Given the description of an element on the screen output the (x, y) to click on. 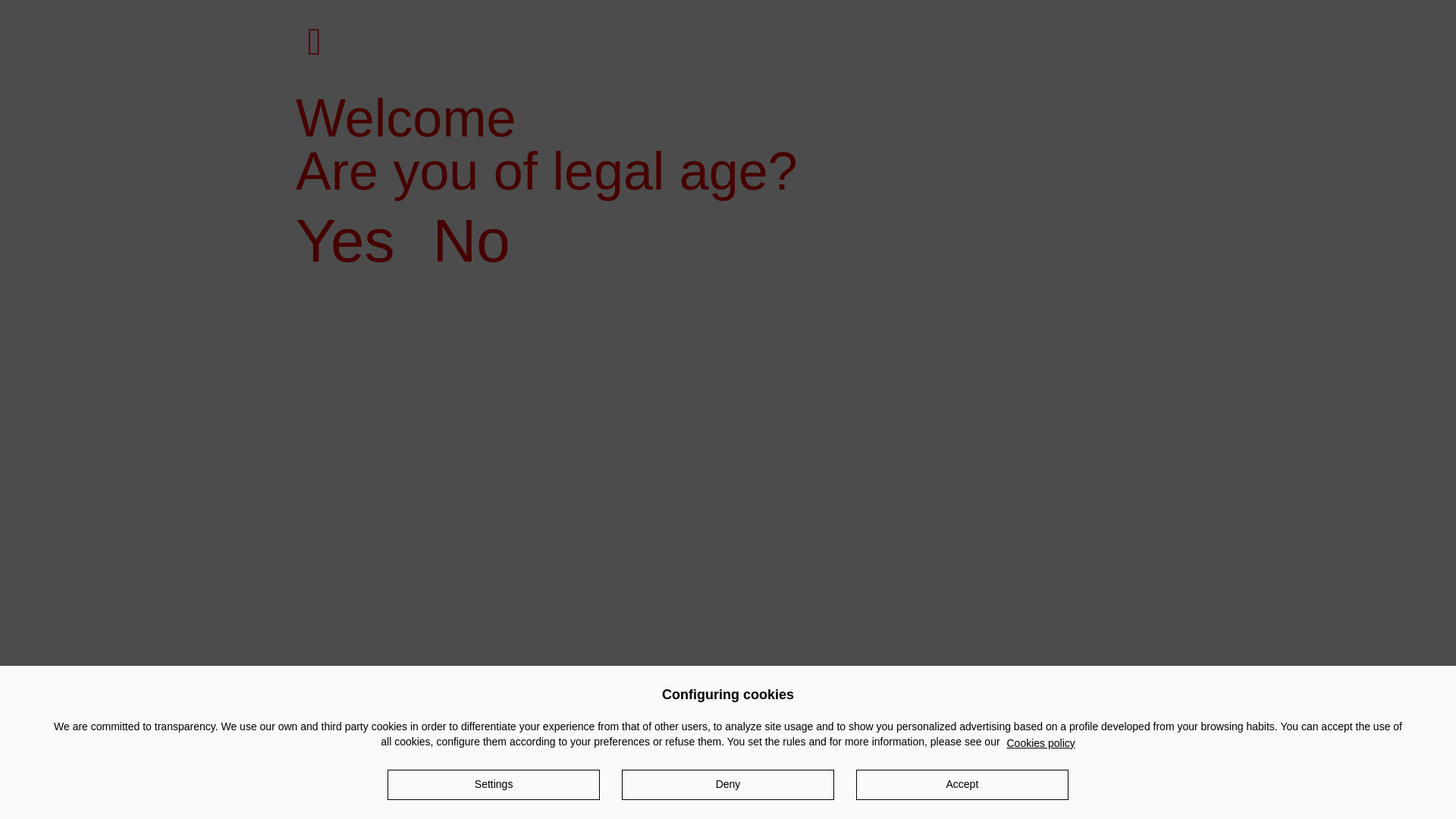
Whistleblower channel (888, 14)
Annual Report (941, 51)
Join the team (1119, 51)
Home (321, 116)
About Damm (594, 51)
Press room (1013, 14)
Our products (766, 51)
ESP (343, 14)
ENG (384, 14)
Our suppliers (759, 14)
CAT (304, 14)
Would you like to sell Damm? (614, 14)
